Given the description of an element on the screen output the (x, y) to click on. 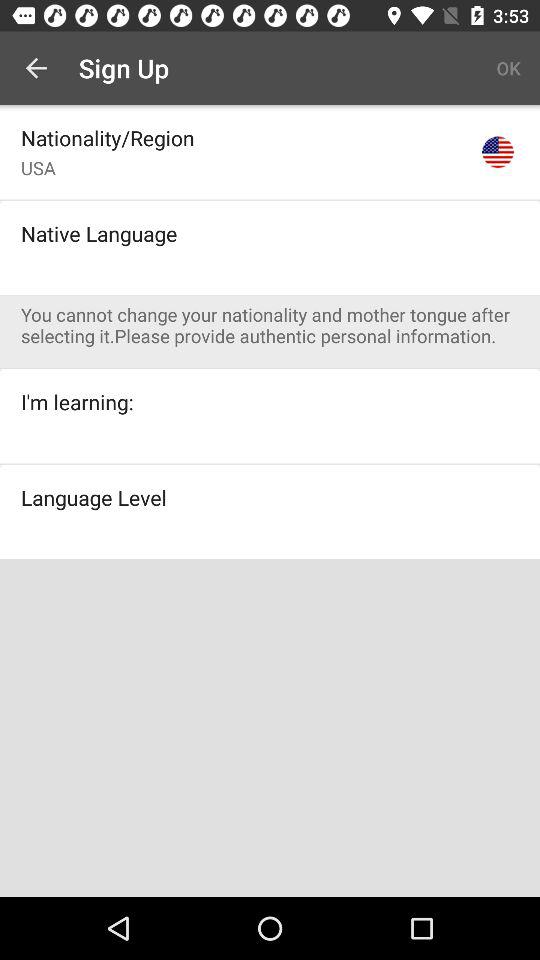
flip to language level icon (93, 497)
